Given the description of an element on the screen output the (x, y) to click on. 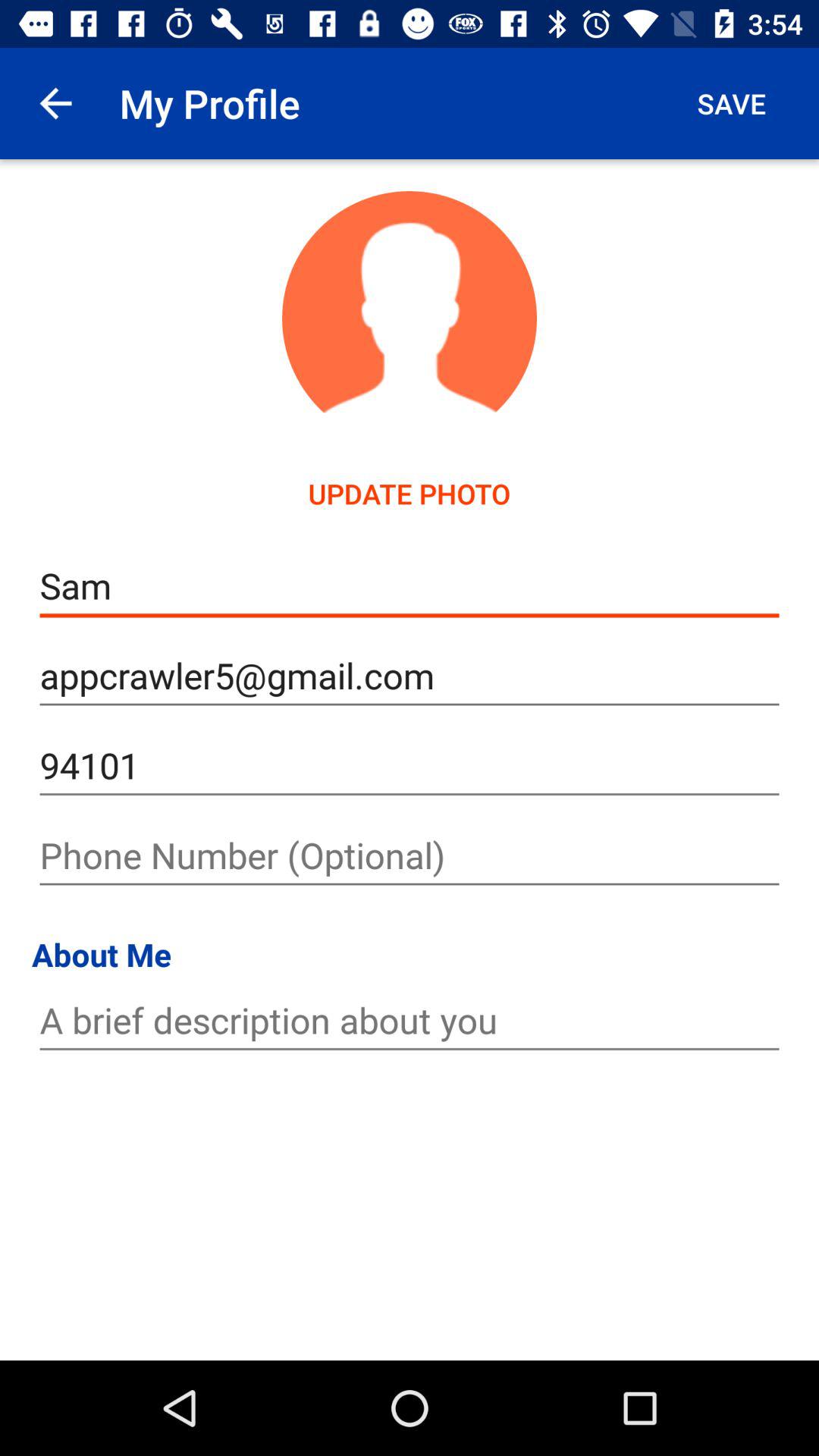
launch the app to the right of the my profile (731, 103)
